Given the description of an element on the screen output the (x, y) to click on. 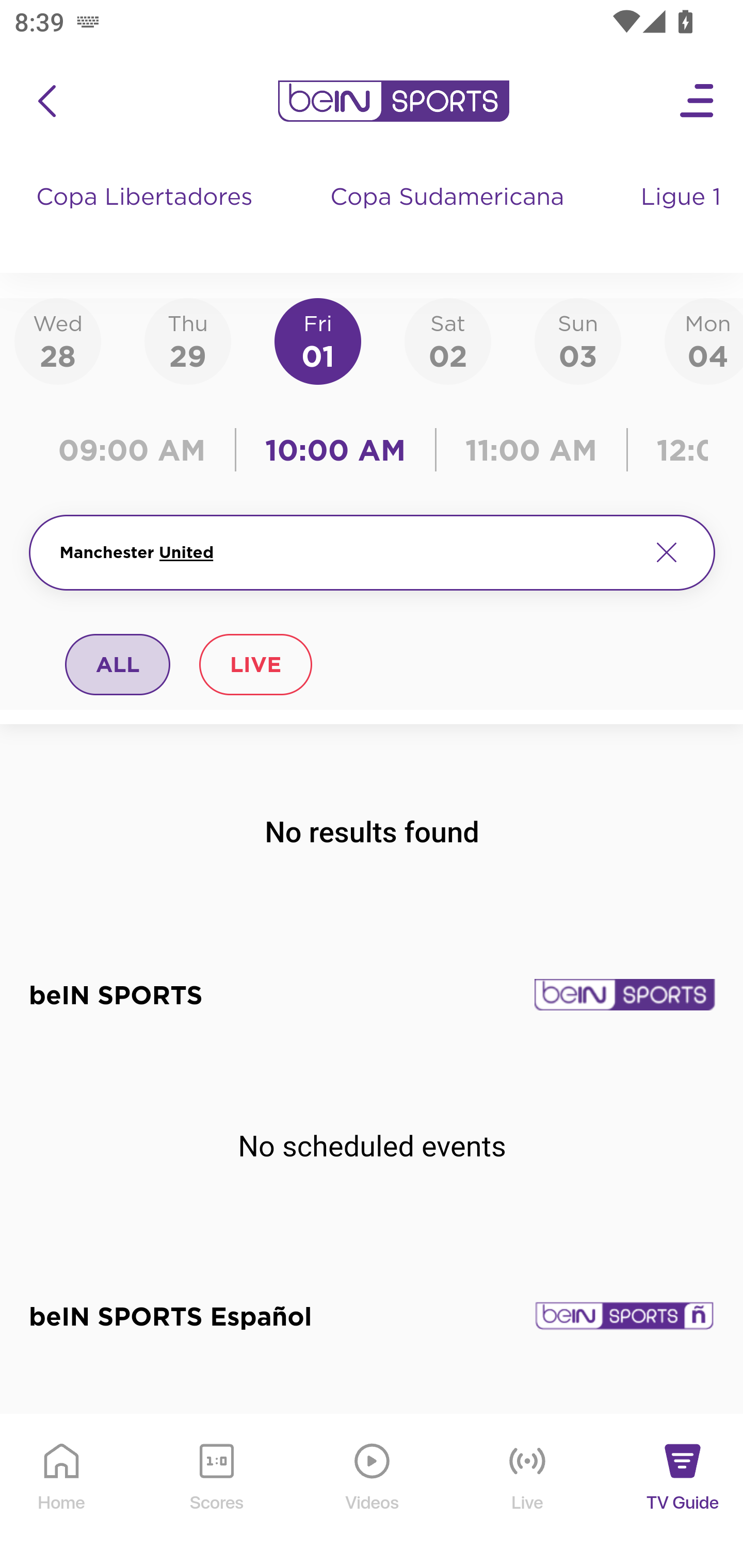
en-us?platform=mobile_android bein logo (392, 101)
icon back (46, 101)
Open Menu Icon (697, 101)
Copa Libertadores (146, 216)
Copa Sudamericana (448, 216)
Ligue 1 (682, 216)
Wed28 (58, 340)
Thu29 (187, 340)
Fri01 (318, 340)
Sat02 (447, 340)
Sun03 (578, 340)
Mon04 (703, 340)
09:00 AM (136, 449)
10:00 AM (335, 449)
11:00 AM (531, 449)
Manchester United (346, 552)
ALL (118, 663)
LIVE (255, 663)
Home Home Icon Home (61, 1491)
Scores Scores Icon Scores (216, 1491)
Videos Videos Icon Videos (372, 1491)
TV Guide TV Guide Icon TV Guide (682, 1491)
